Given the description of an element on the screen output the (x, y) to click on. 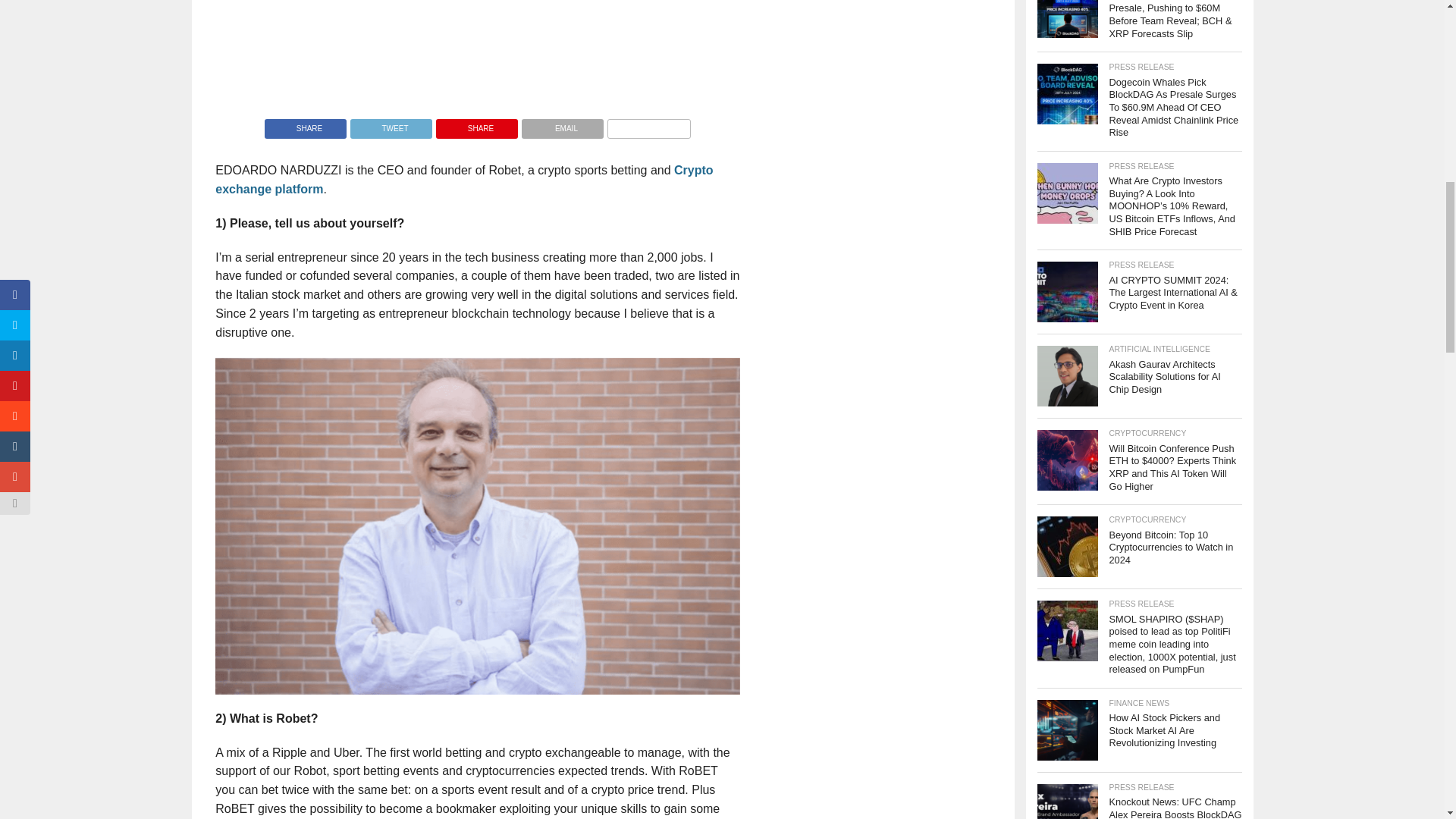
Pin This Post (476, 124)
Share on Facebook (305, 124)
Tweet This Post (390, 124)
